Given the description of an element on the screen output the (x, y) to click on. 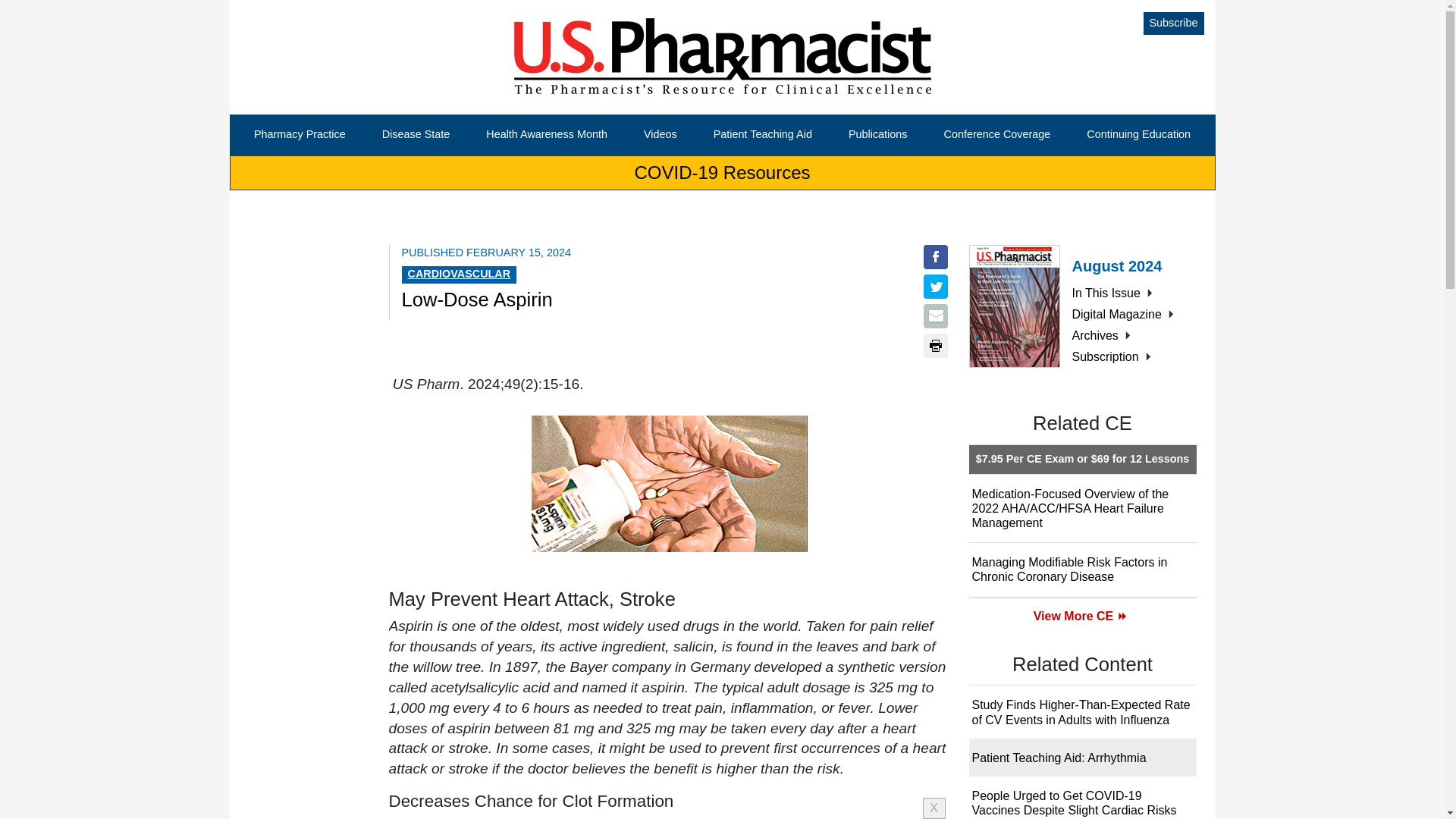
Pharmacy Practice (299, 134)
Subscribe (1173, 23)
Disease State (416, 134)
